Given the description of an element on the screen output the (x, y) to click on. 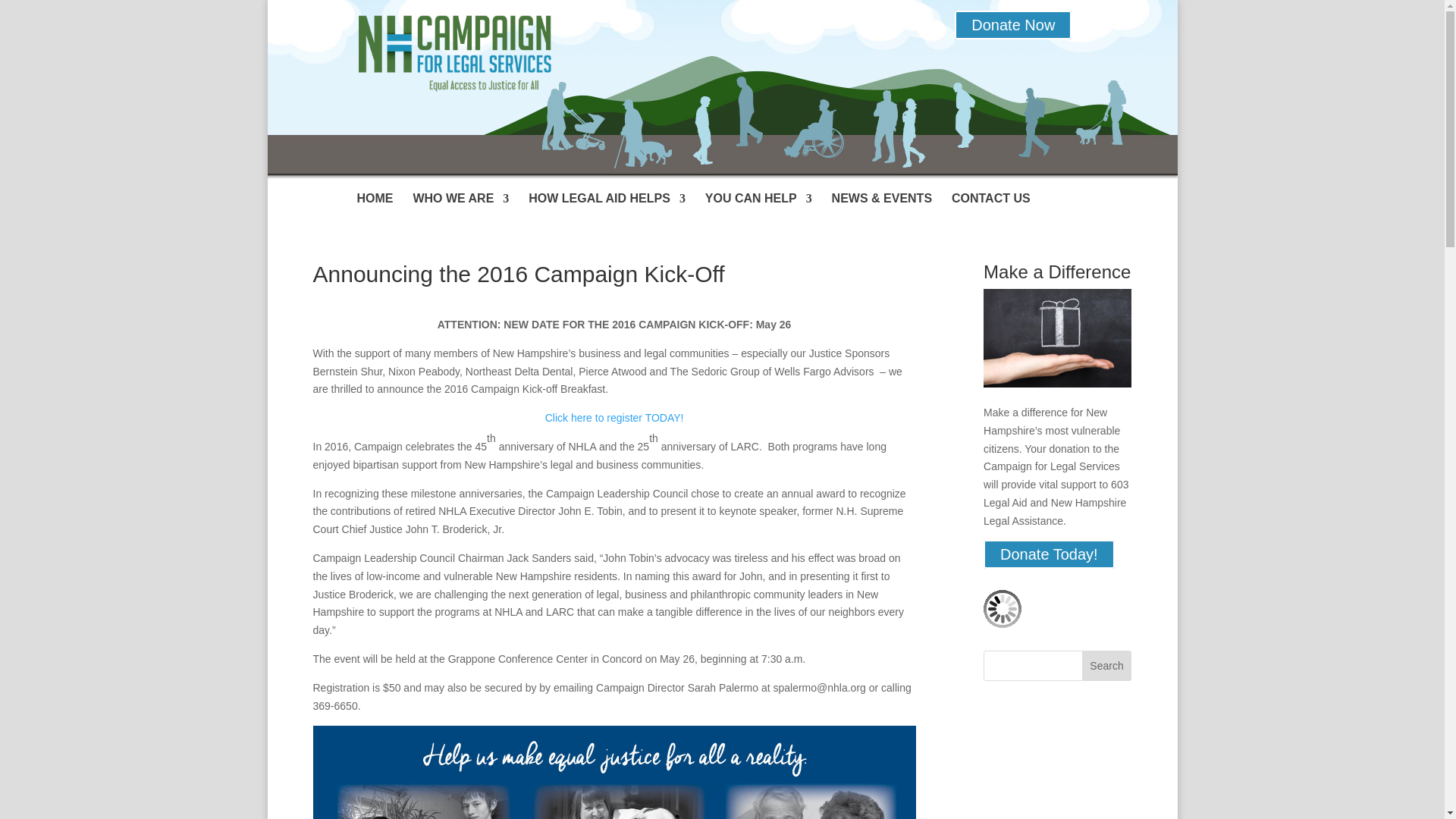
WHO WE ARE (460, 206)
CONTACT US (991, 206)
Donate Now (1013, 24)
HOW LEGAL AID HELPS (606, 206)
YOU CAN HELP (758, 206)
Search (1106, 665)
HOME (374, 206)
